Given the description of an element on the screen output the (x, y) to click on. 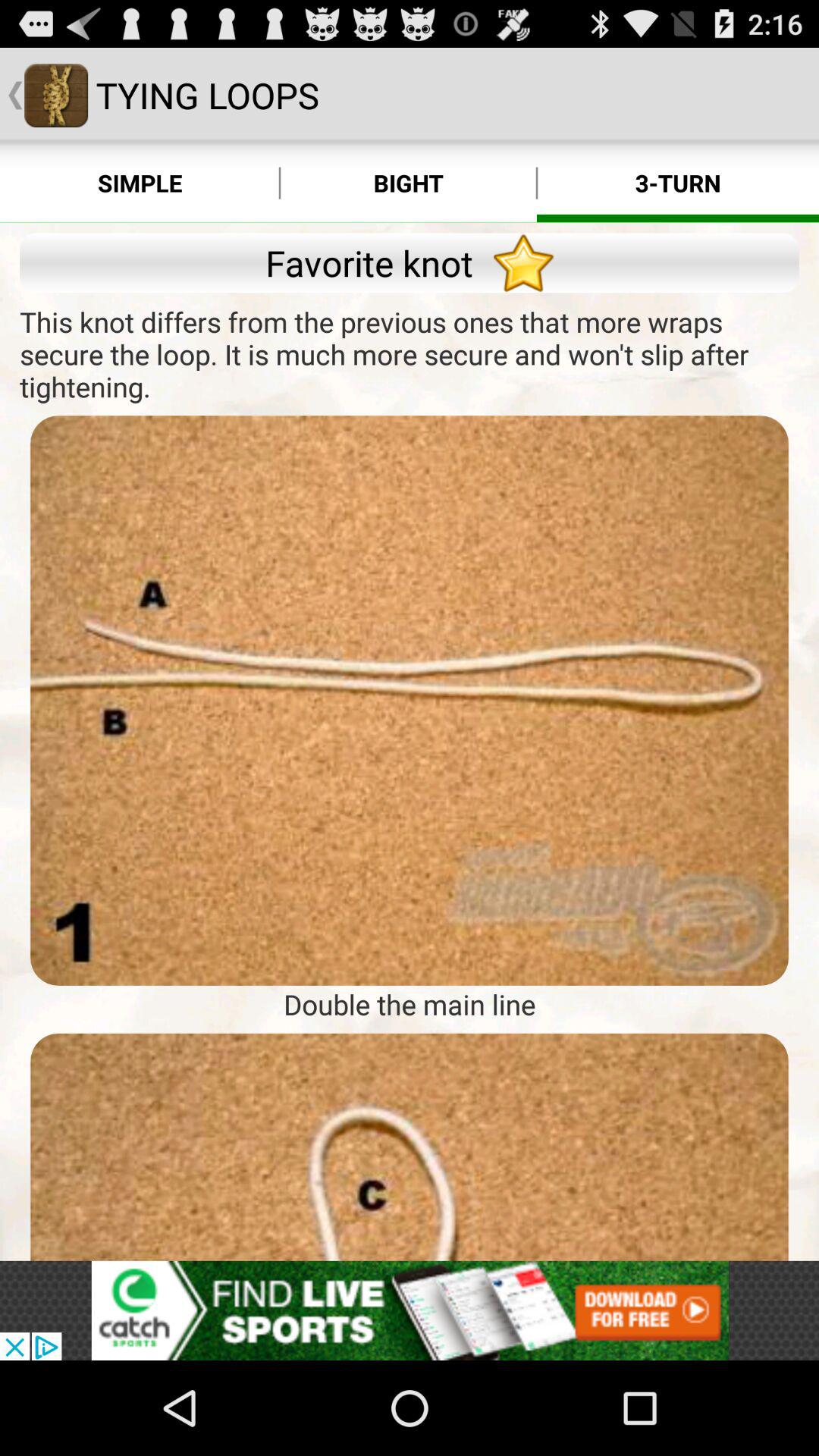
tag the double the main line (409, 1146)
